Given the description of an element on the screen output the (x, y) to click on. 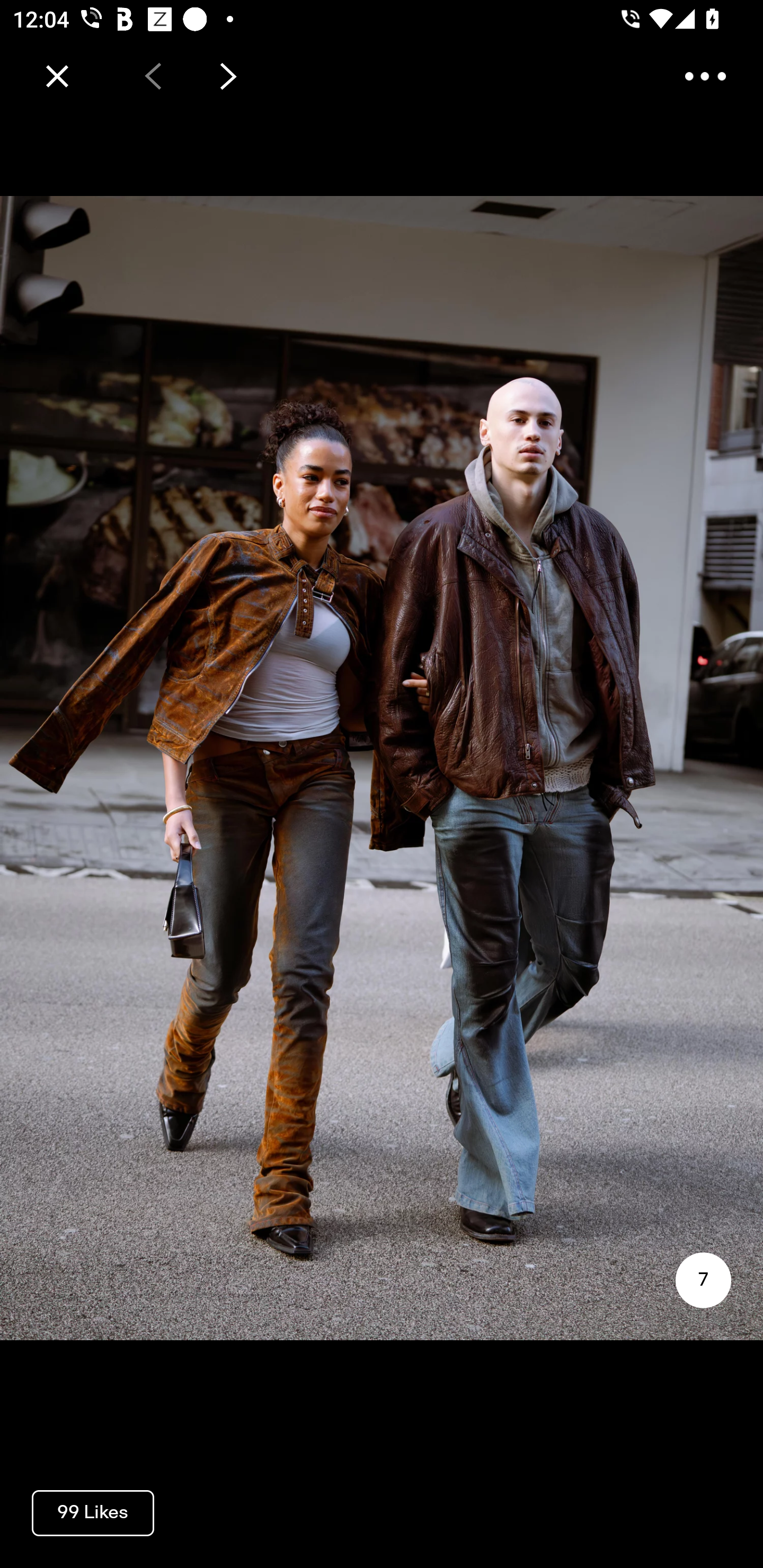
7 (702, 1279)
99 Likes (93, 1512)
